Given the description of an element on the screen output the (x, y) to click on. 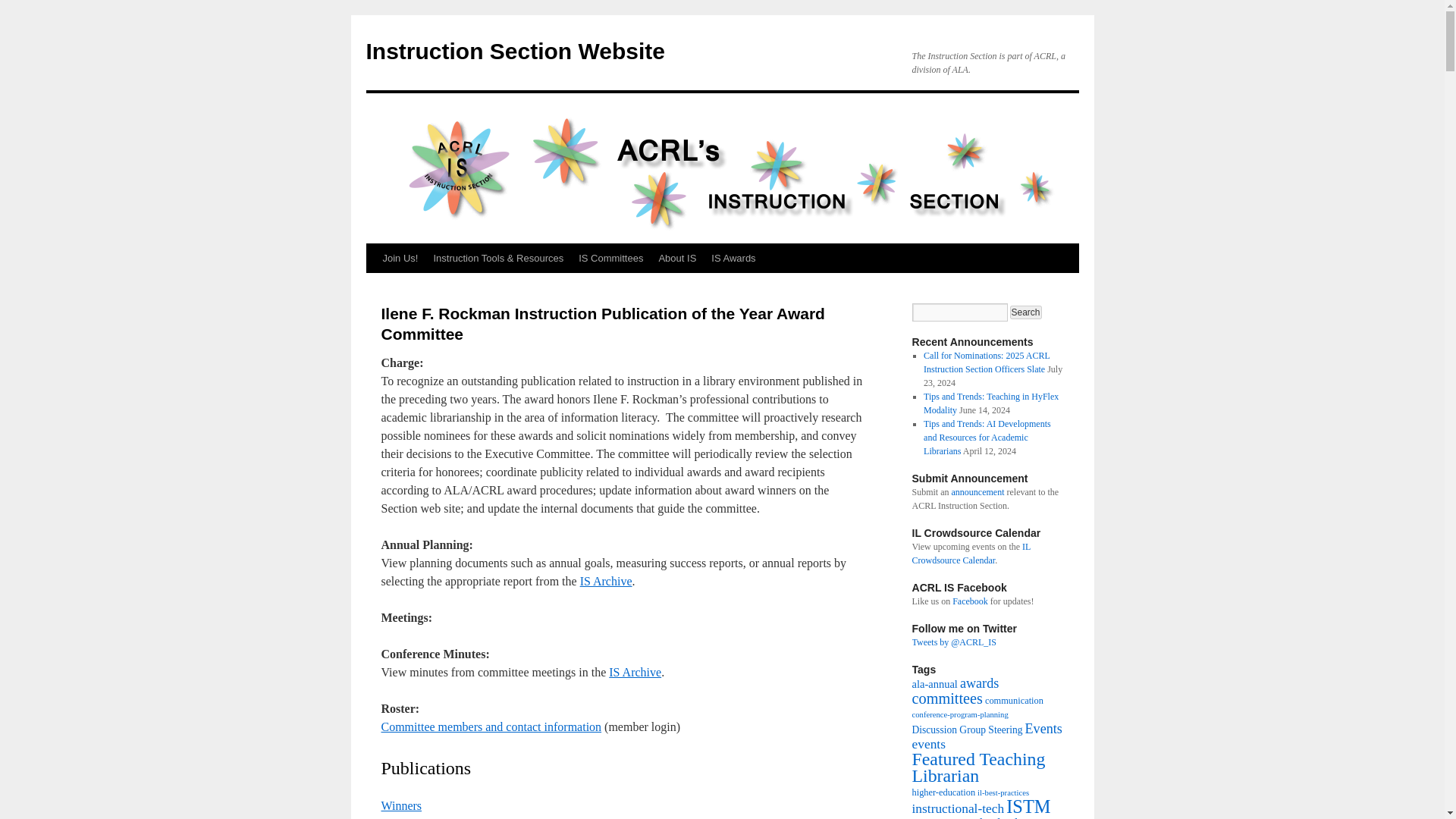
Search (1026, 312)
Winners (401, 805)
IL Crowdsource Calendar (970, 553)
announcement (978, 491)
Tips and Trends: Teaching in HyFlex Modality (990, 403)
About IS (676, 258)
ala-annual (933, 684)
IS Archive (605, 581)
Facebook (970, 601)
awards (978, 683)
committees (946, 698)
